Given the description of an element on the screen output the (x, y) to click on. 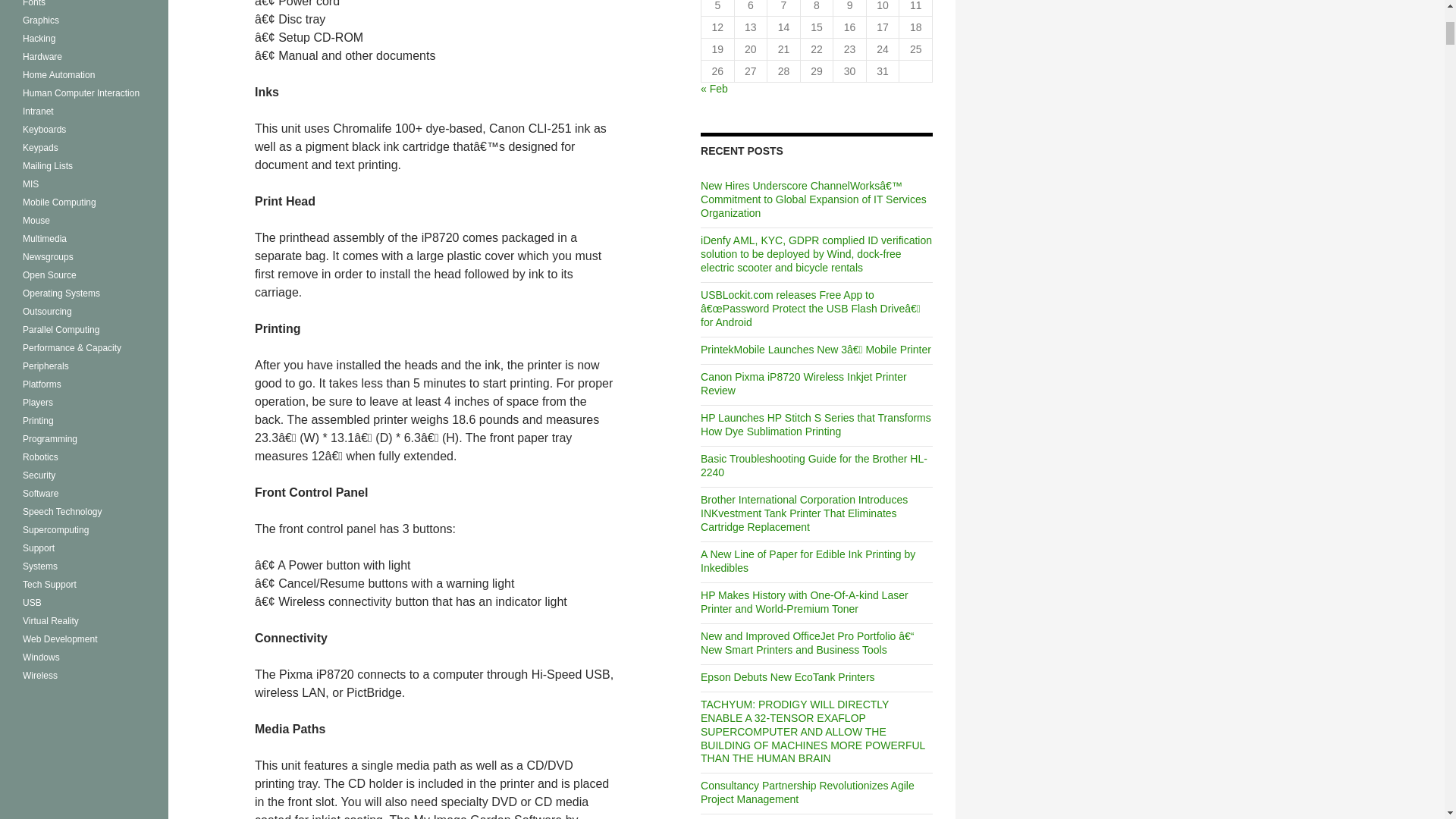
Epson Debuts New EcoTank Printers (787, 676)
Basic Troubleshooting Guide for the Brother HL-2240 (813, 465)
Advertisement (84, 769)
A New Line of Paper for Edible Ink Printing by Inkedibles (807, 560)
Canon Pixma iP8720 Wireless Inkjet Printer Review (803, 383)
